Given the description of an element on the screen output the (x, y) to click on. 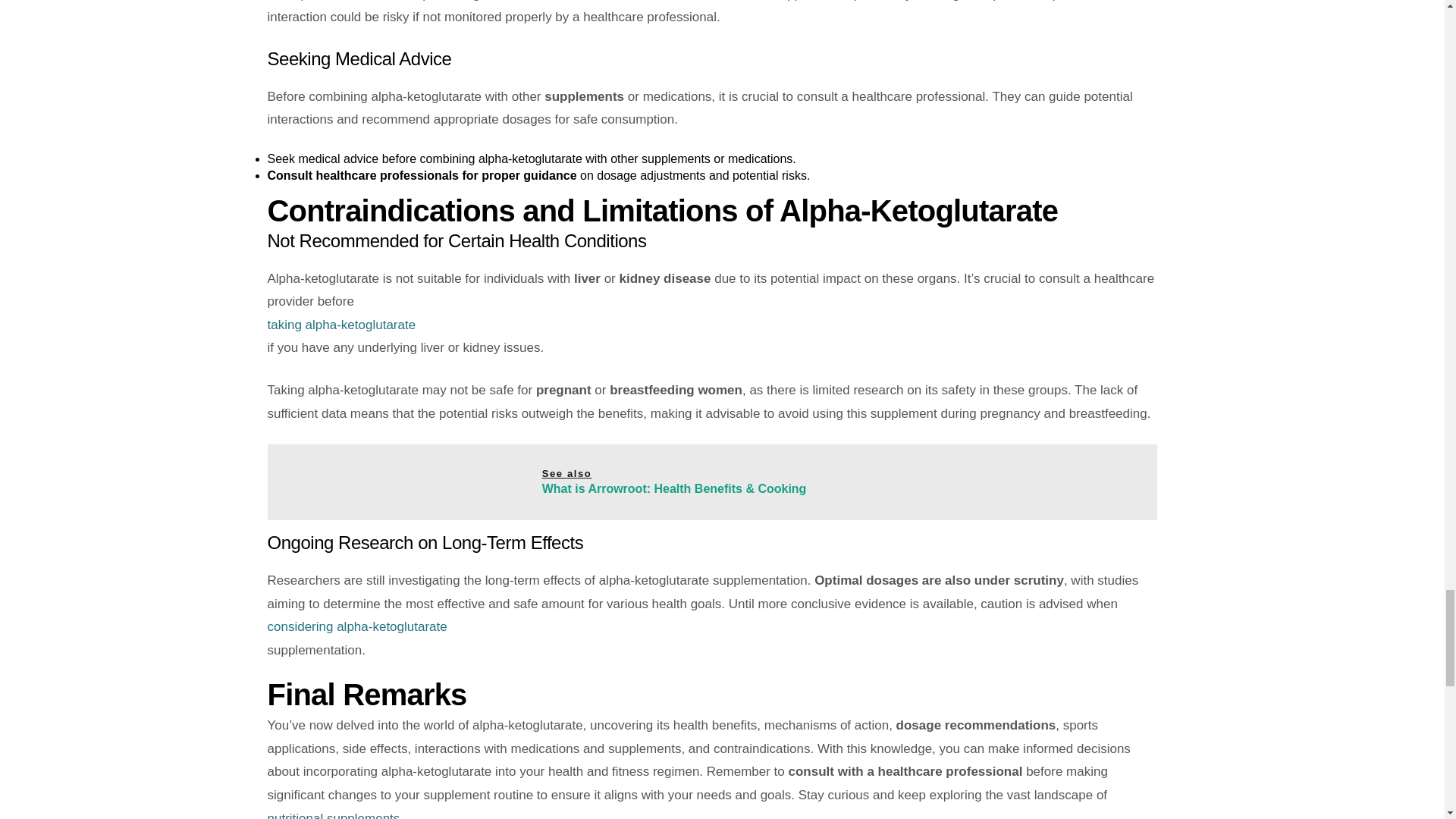
taking alpha-ketoglutarate (711, 325)
considering alpha-ketoglutarate (711, 627)
